Given the description of an element on the screen output the (x, y) to click on. 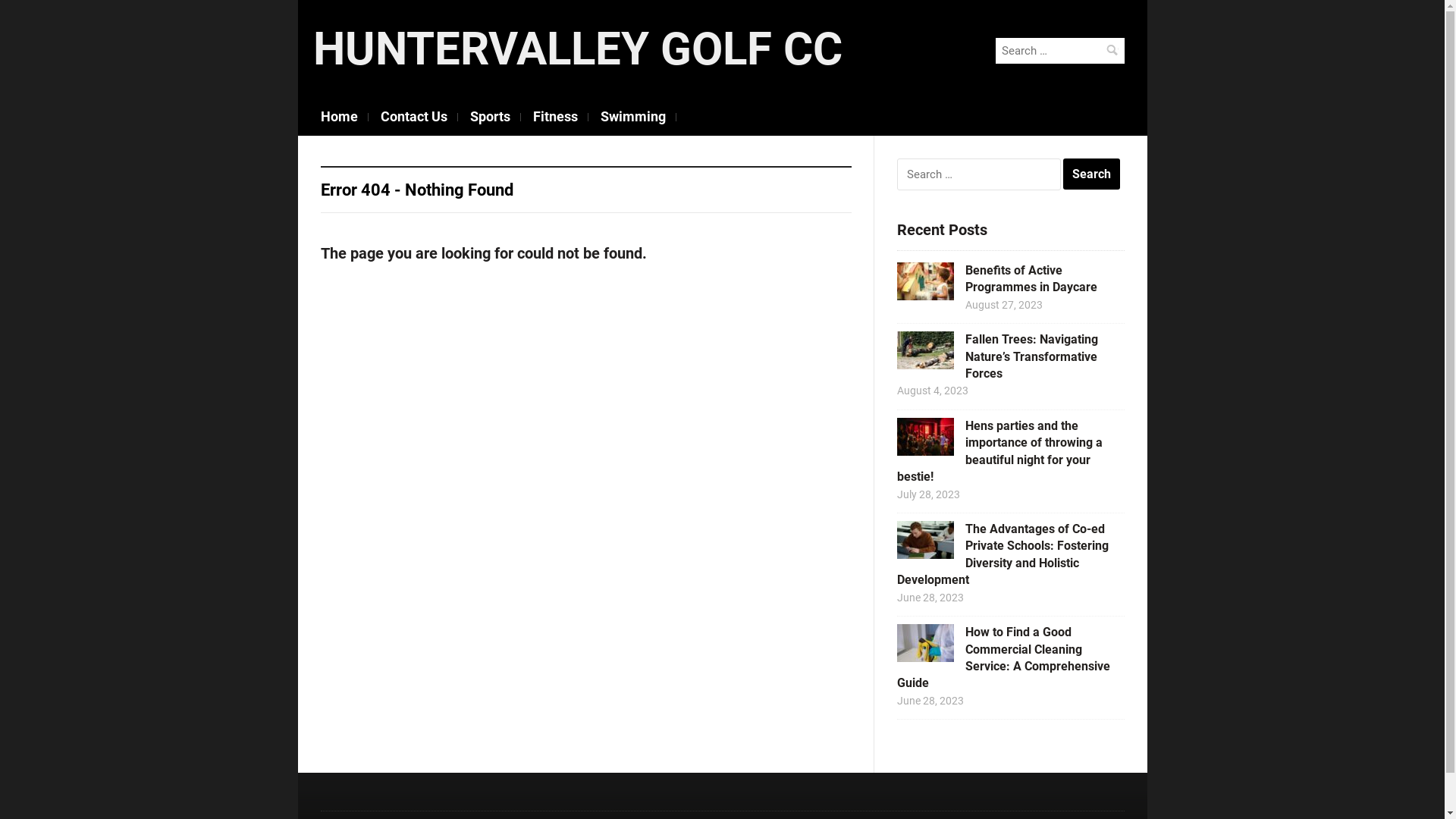
Home Element type: text (339, 116)
Search for: Element type: hover (978, 174)
HUNTERVALLEY GOLF CC Element type: text (576, 48)
Search Element type: text (1111, 49)
Search Element type: text (1091, 174)
Fitness Element type: text (555, 116)
Sports Element type: text (489, 116)
Contact Us Element type: text (413, 116)
Benefits of Active Programmes in Daycare Element type: text (1030, 278)
Search for: Element type: hover (1058, 50)
Swimming Element type: text (632, 116)
